Given the description of an element on the screen output the (x, y) to click on. 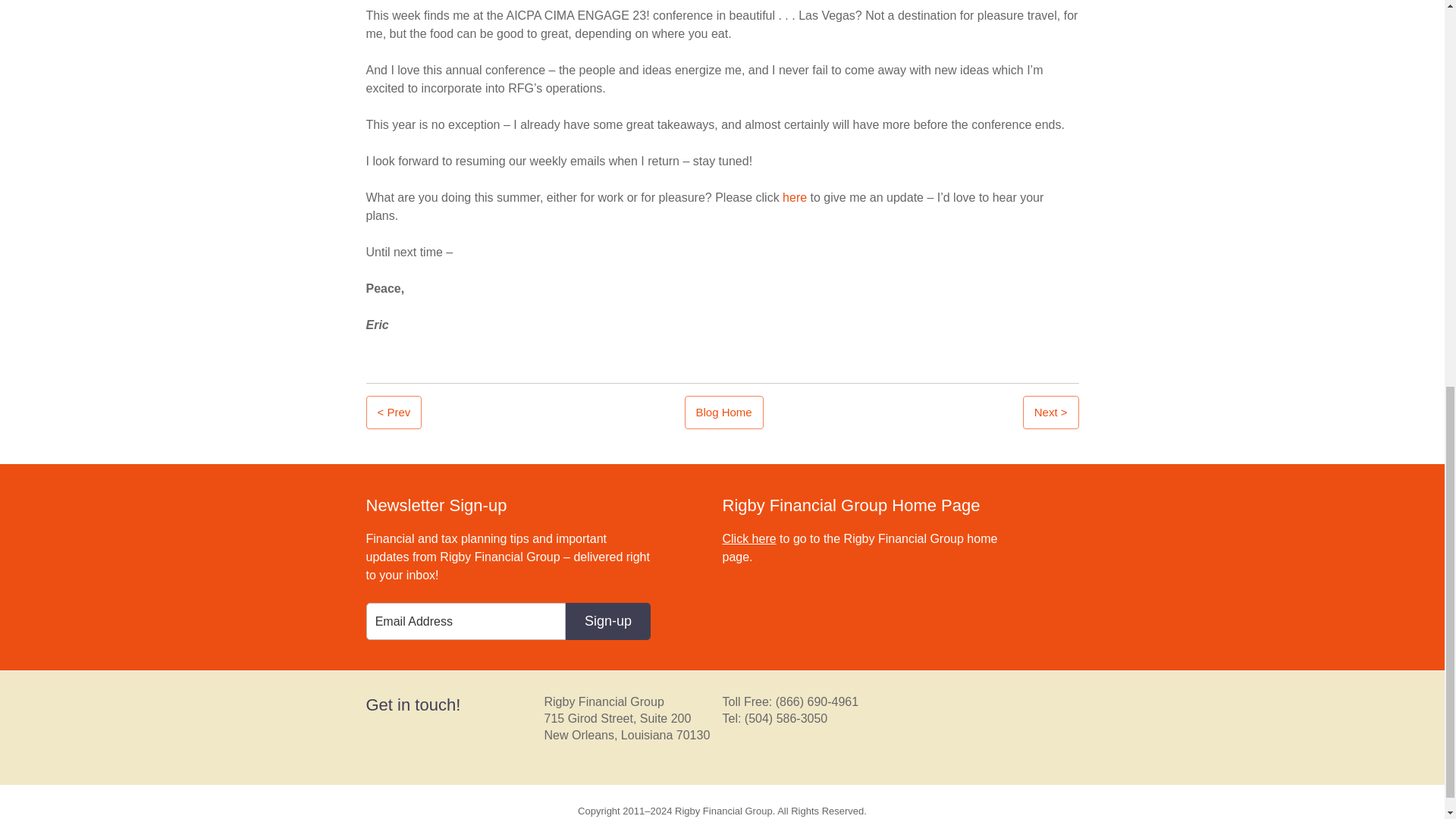
here (796, 196)
Sign-up (608, 620)
Click here (749, 538)
Blog Home (723, 412)
